Given the description of an element on the screen output the (x, y) to click on. 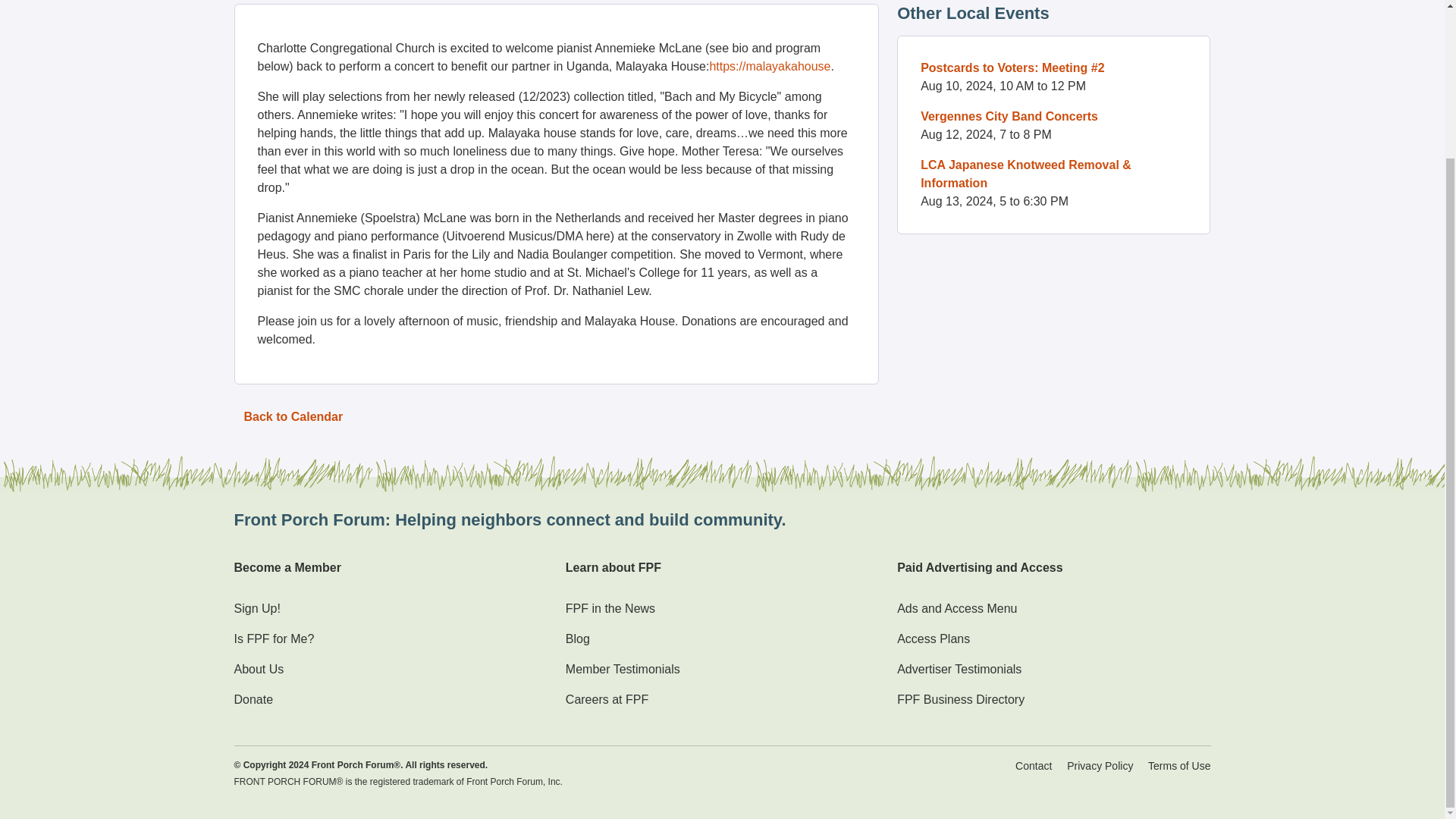
Is FPF for Me? (273, 638)
Sign Up! (255, 608)
Blog (577, 638)
Back to Calendar (292, 416)
Donate (252, 698)
FPF in the News (610, 608)
Access Plans (932, 638)
FPF Business Directory (960, 698)
Advertiser Testimonials (959, 668)
Terms of Use (1178, 766)
Privacy Policy (1099, 766)
Vergennes City Band Concerts (1008, 115)
Ads and Access Menu (956, 608)
Member Testimonials (622, 668)
Contact (1032, 766)
